Given the description of an element on the screen output the (x, y) to click on. 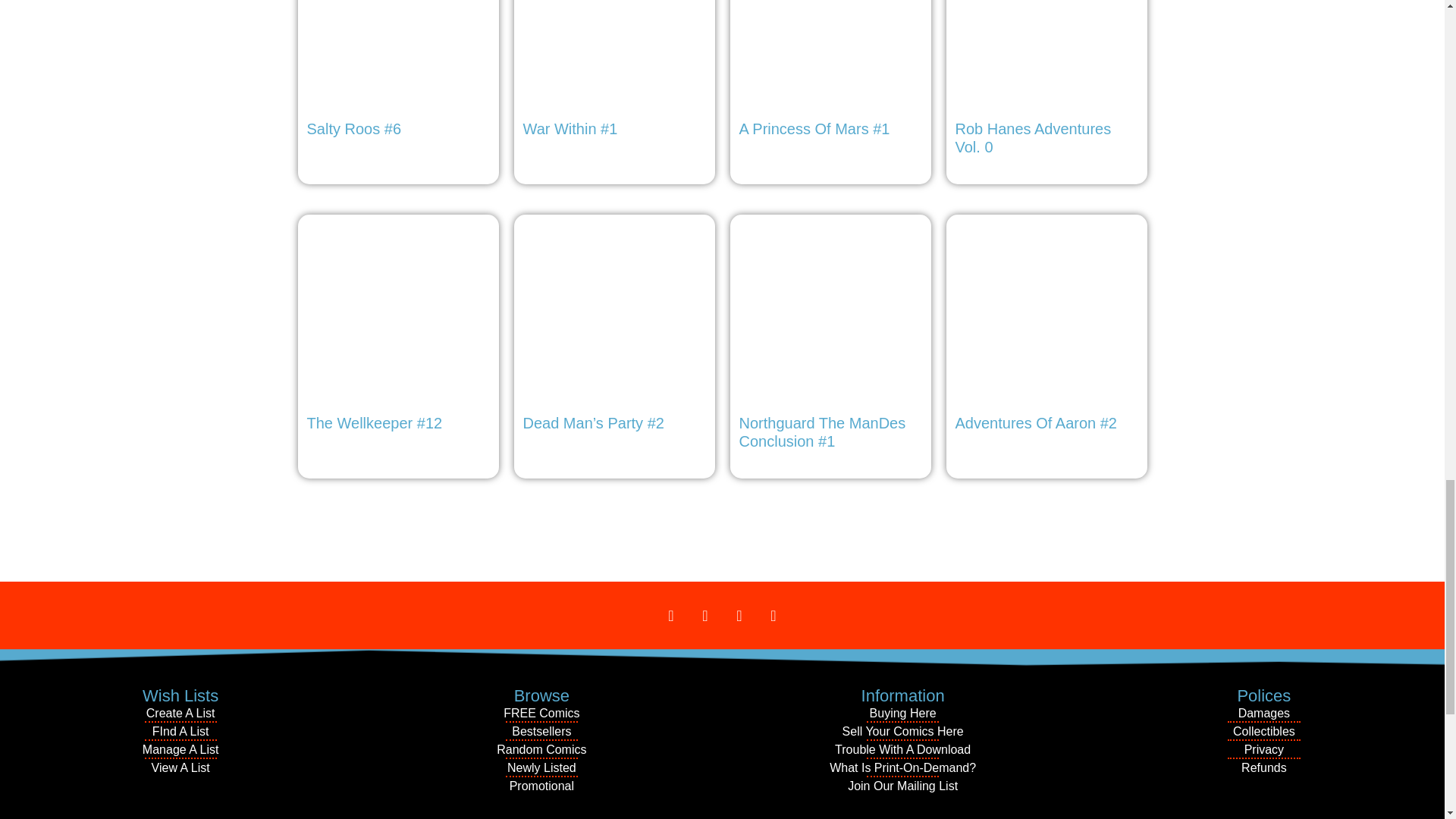
Create A List (180, 713)
Rob Hanes Adventures Vol. 0 (1046, 81)
